Given the description of an element on the screen output the (x, y) to click on. 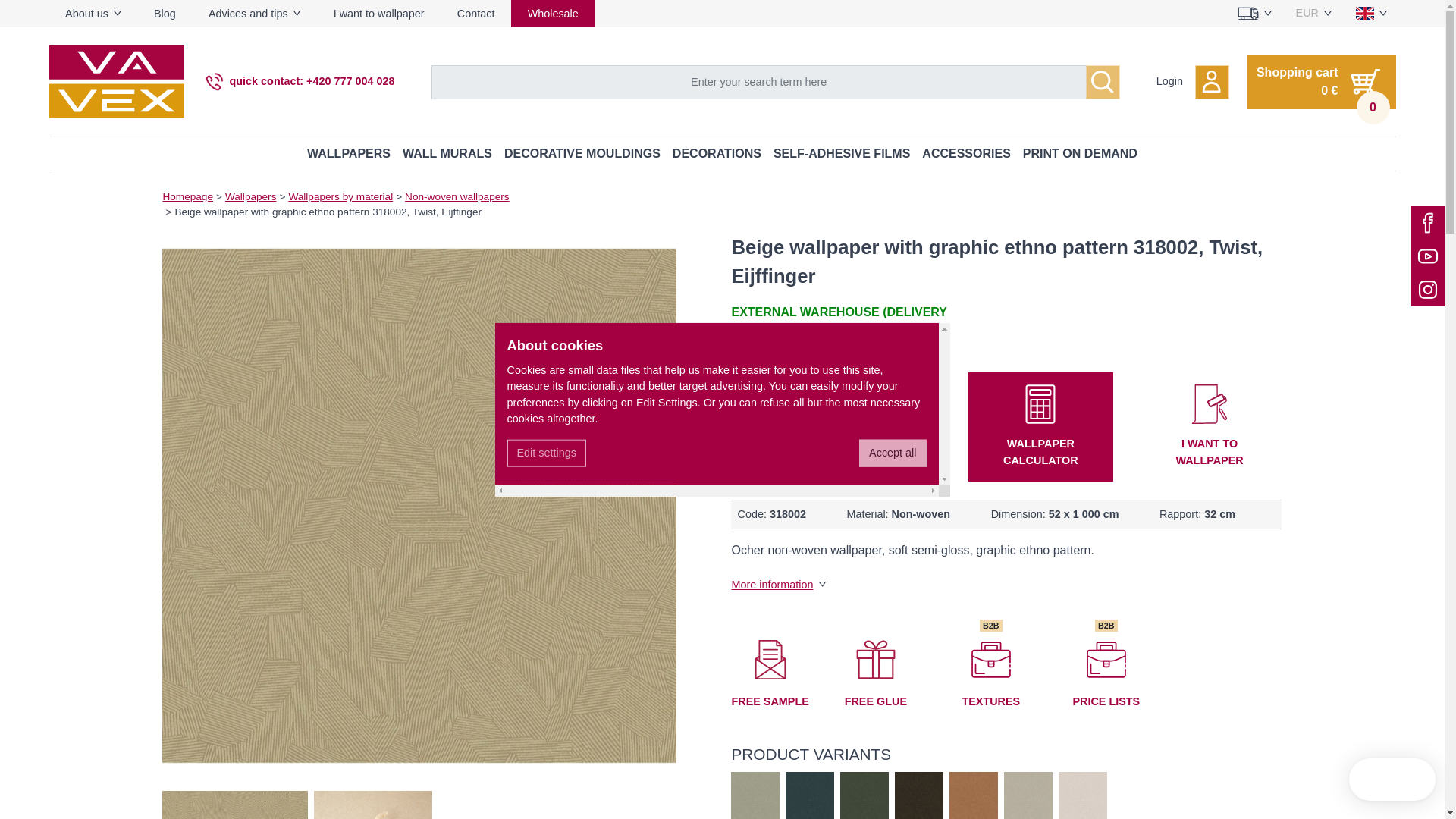
Wholesale (552, 13)
1 (852, 427)
Smartsupp widget button (1392, 779)
Contact (476, 13)
Advices and tips (254, 13)
Blog (164, 13)
EUR (1313, 13)
I want to wallpaper (379, 13)
More information (777, 584)
About us (92, 13)
